Given the description of an element on the screen output the (x, y) to click on. 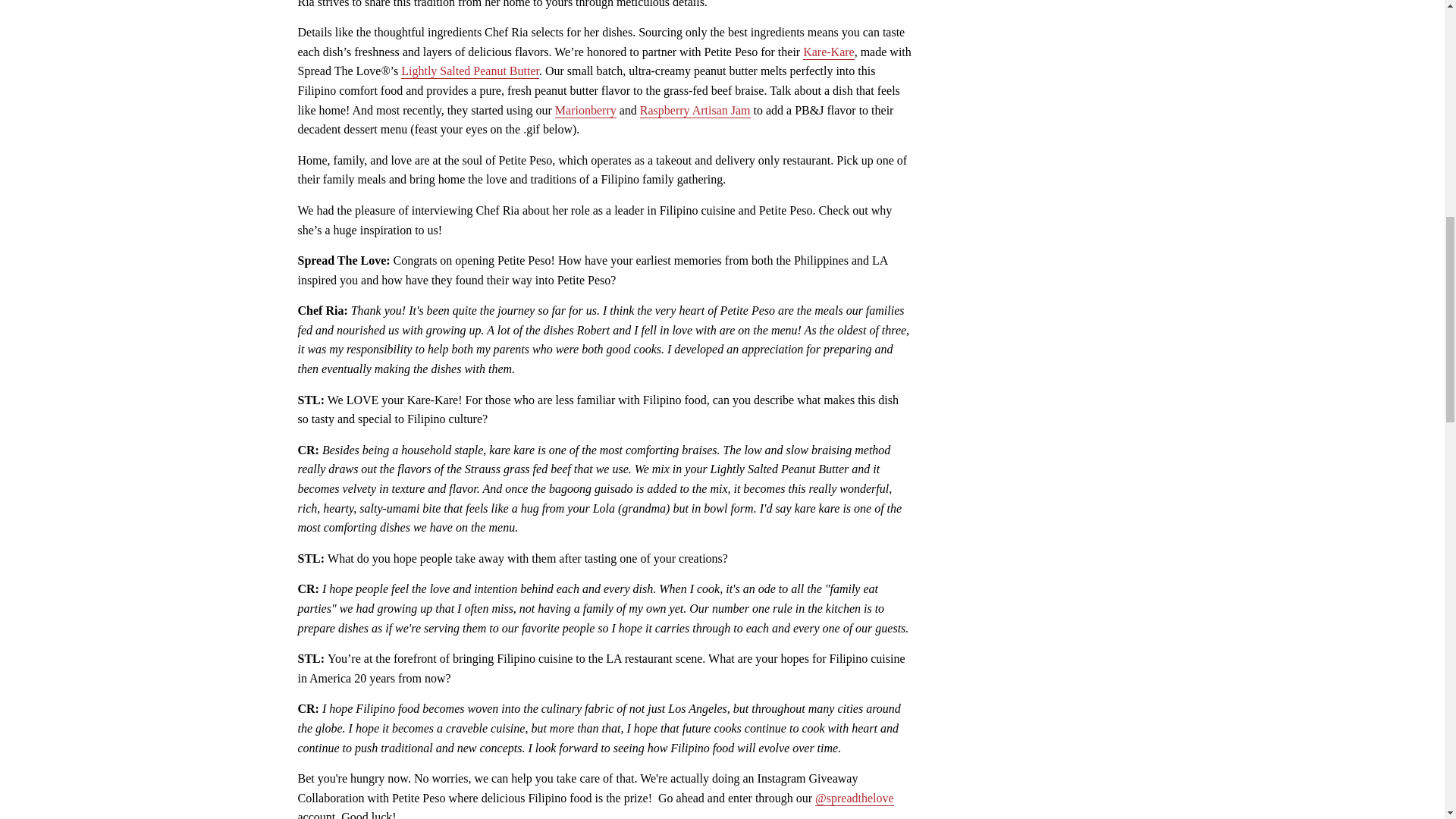
Raspberry Artisan Jam (695, 110)
Marionberry Artisan Jam (584, 110)
Kare Kare by Petite Peso (828, 52)
Lightly Salted Peanut Butter (469, 71)
